Given the description of an element on the screen output the (x, y) to click on. 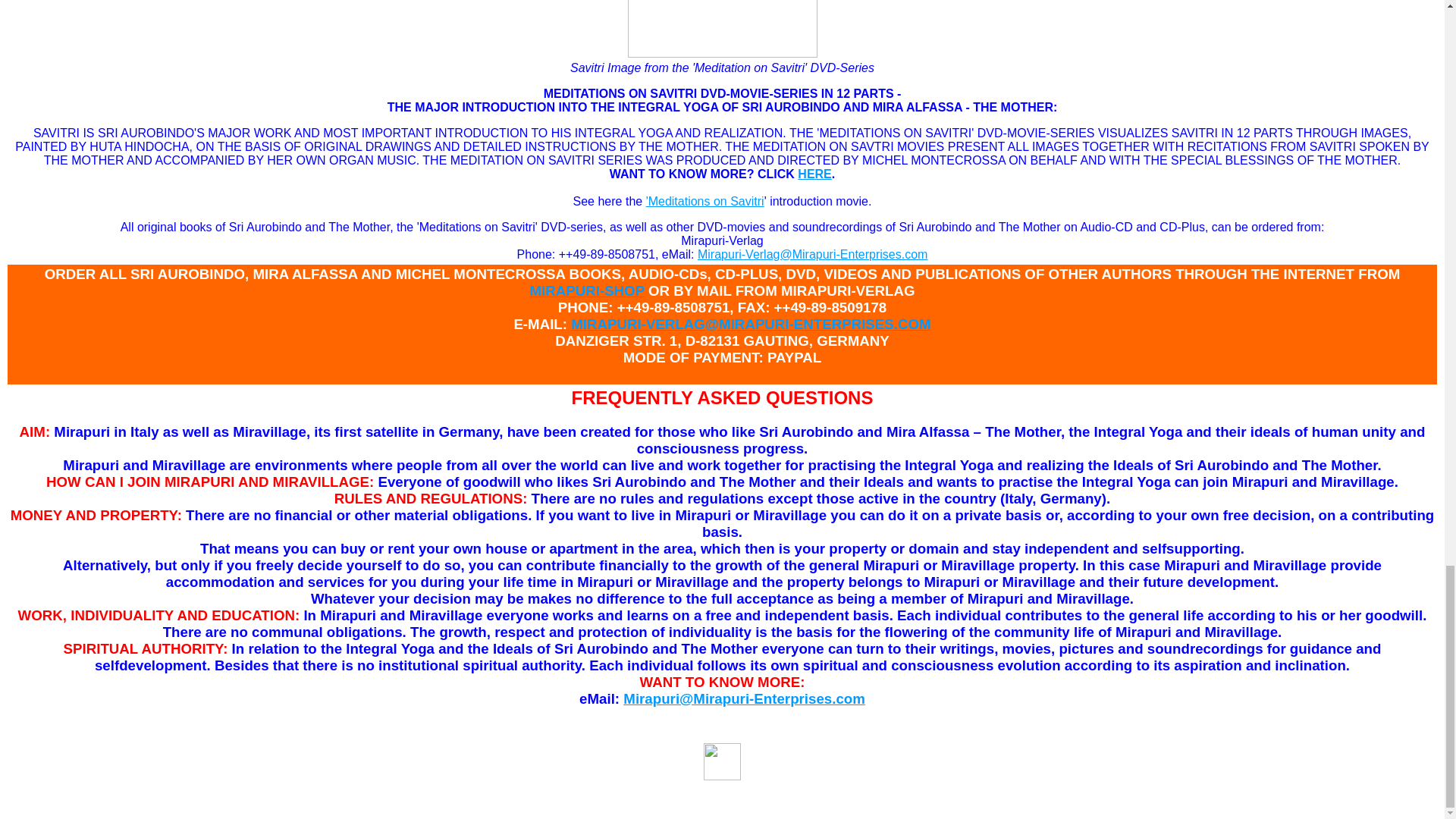
'Meditations on Savitri (705, 201)
HERE (814, 173)
MIRAPURI-SHOP (586, 290)
